Given the description of an element on the screen output the (x, y) to click on. 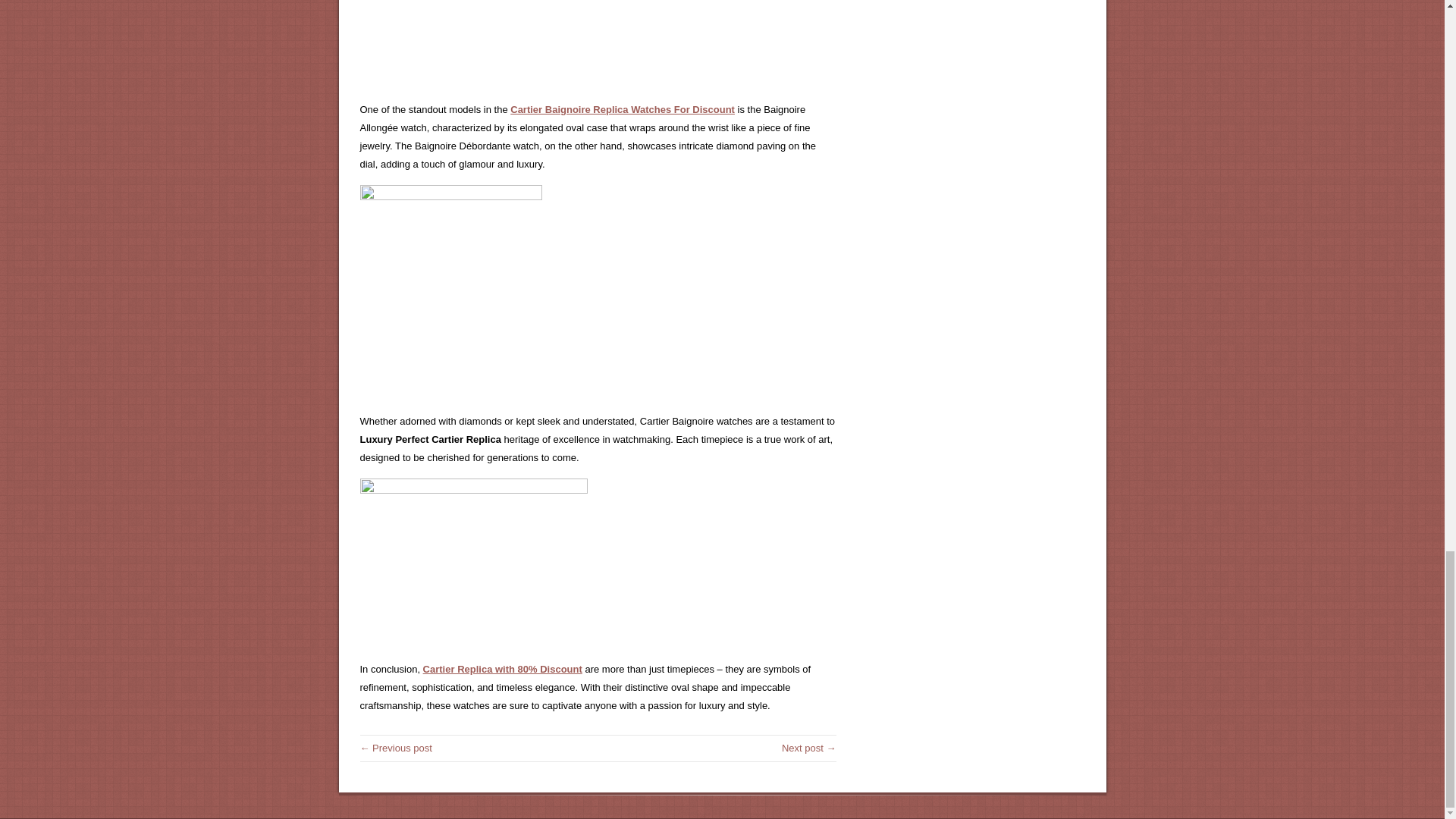
Cartier Baignoire Replica Watches For Discount (623, 109)
The Best Place To Buy Cartier Santos-Dumont Watches (394, 747)
